Given the description of an element on the screen output the (x, y) to click on. 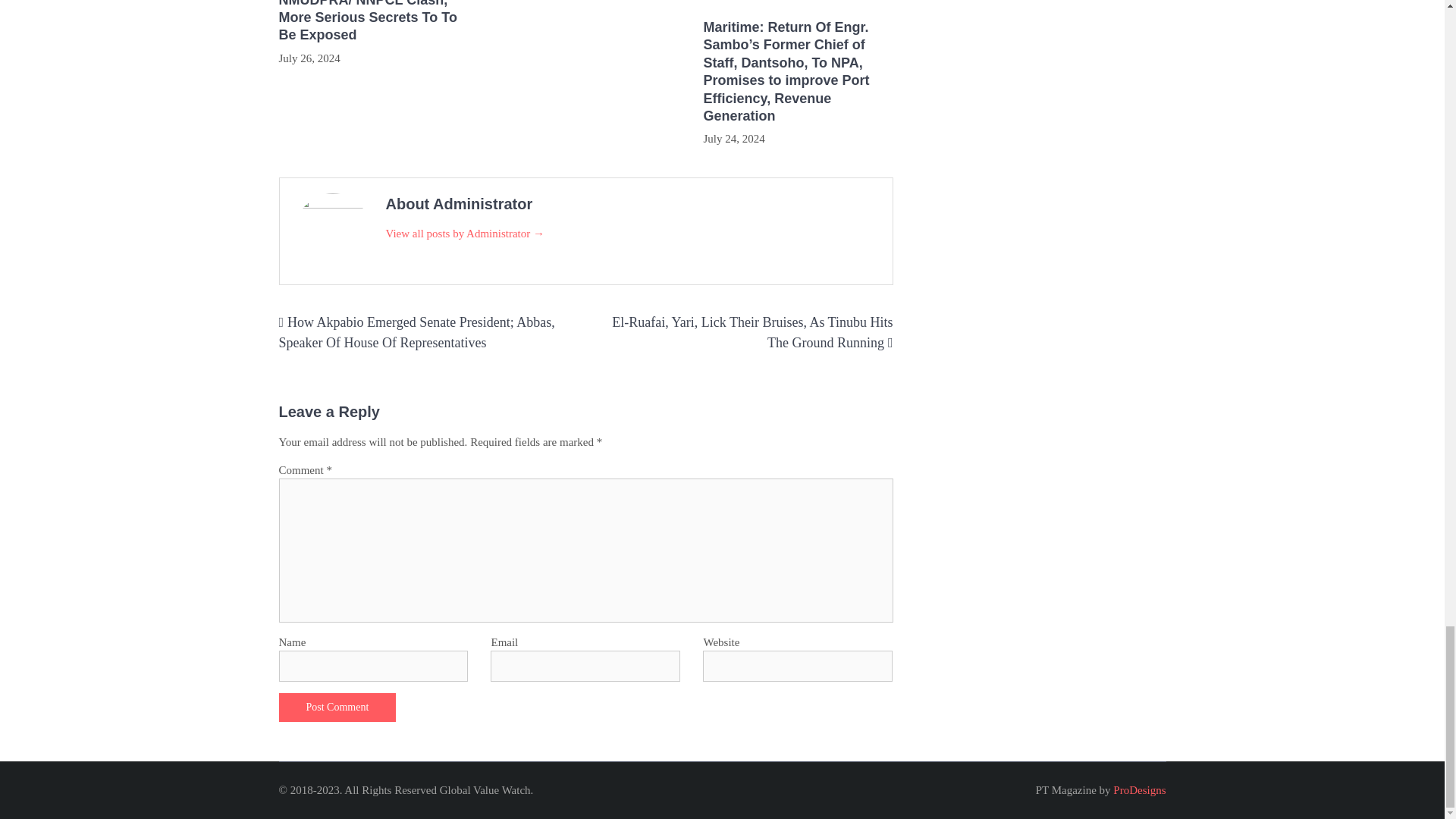
Post Comment (337, 706)
